Given the description of an element on the screen output the (x, y) to click on. 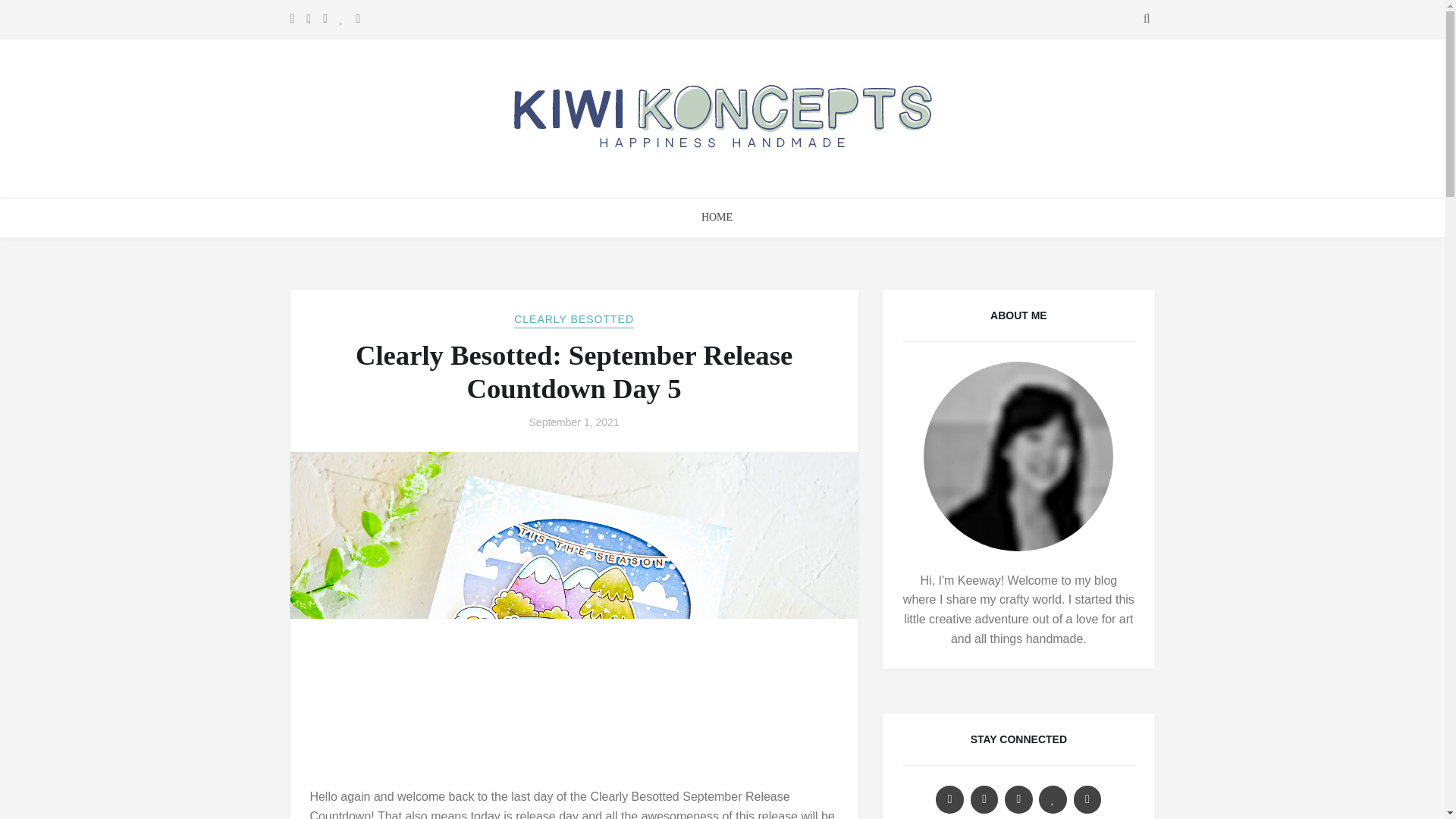
HOME (716, 218)
CLEARLY BESOTTED (573, 320)
September 1, 2021 (574, 422)
